Given the description of an element on the screen output the (x, y) to click on. 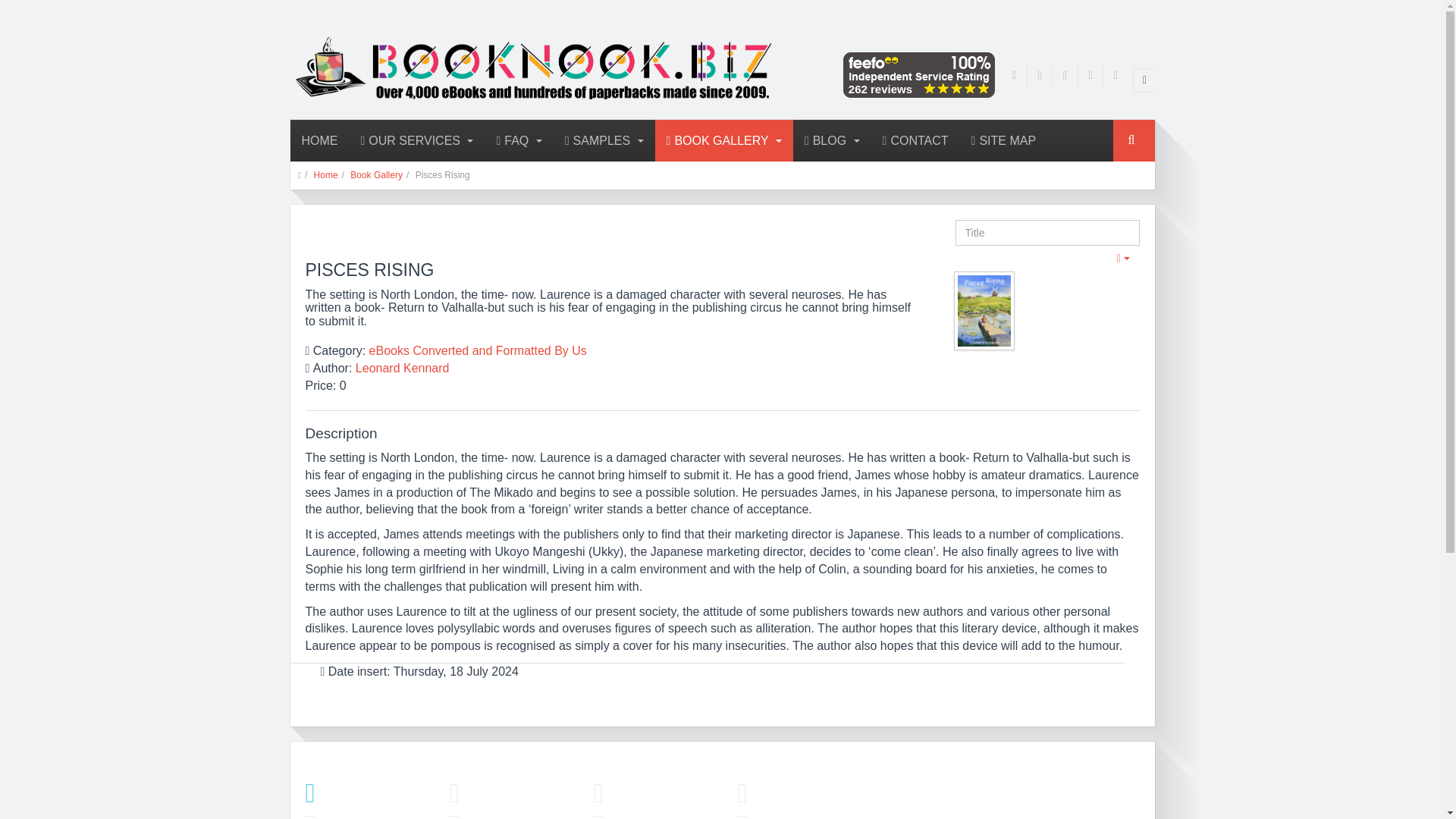
Pinterest (1064, 75)
Booknook (459, 67)
Twitter (1039, 75)
Linkedin (1090, 75)
Skype (1115, 75)
Facebook (1014, 75)
Cover of Pisces Rising (985, 311)
